Given the description of an element on the screen output the (x, y) to click on. 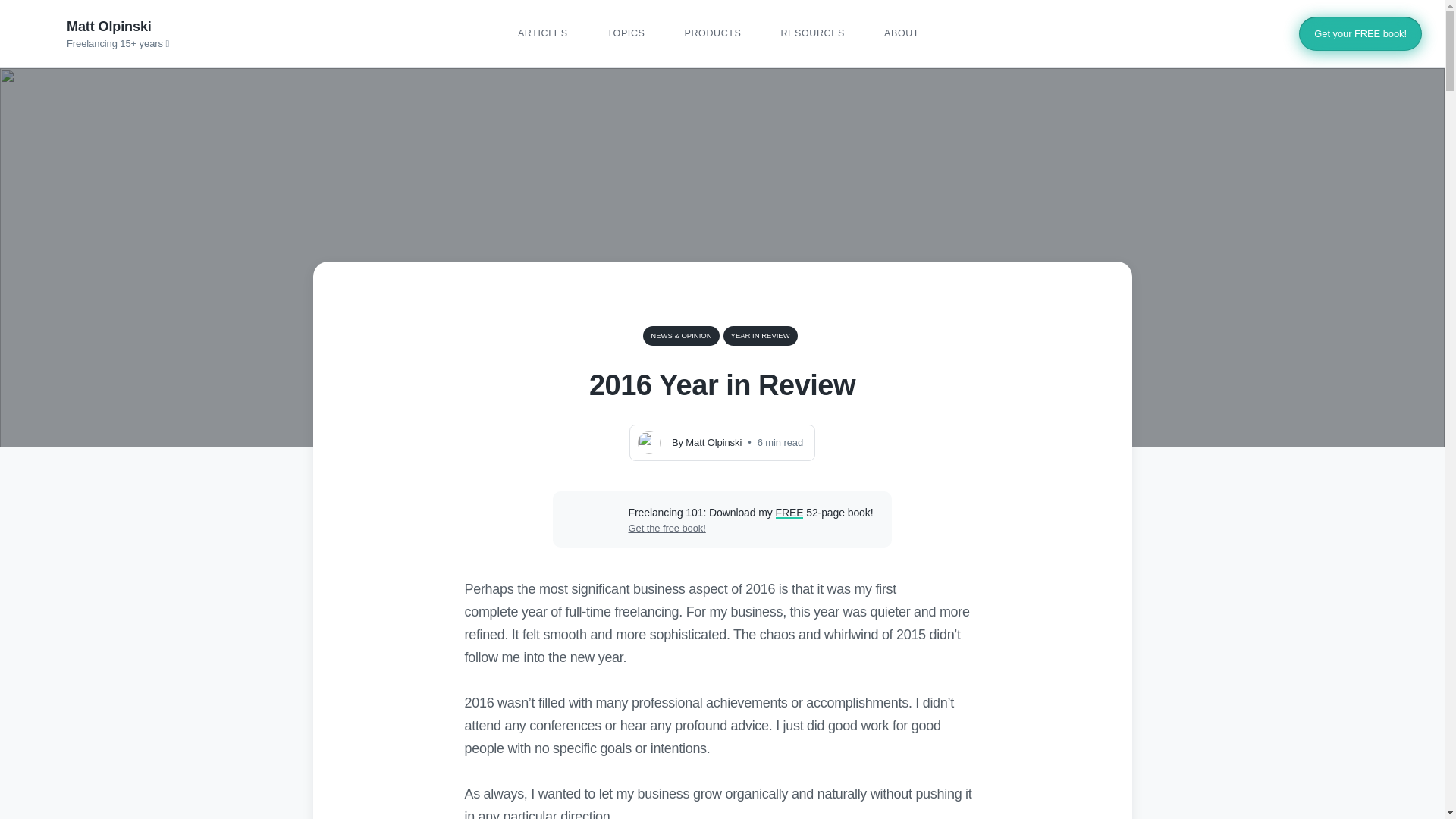
ABOUT (901, 33)
Get your FREE book! (1360, 33)
ARTICLES (542, 33)
PRODUCTS (712, 33)
YEAR IN REVIEW (760, 335)
RESOURCES (811, 33)
TOPICS (625, 33)
